Given the description of an element on the screen output the (x, y) to click on. 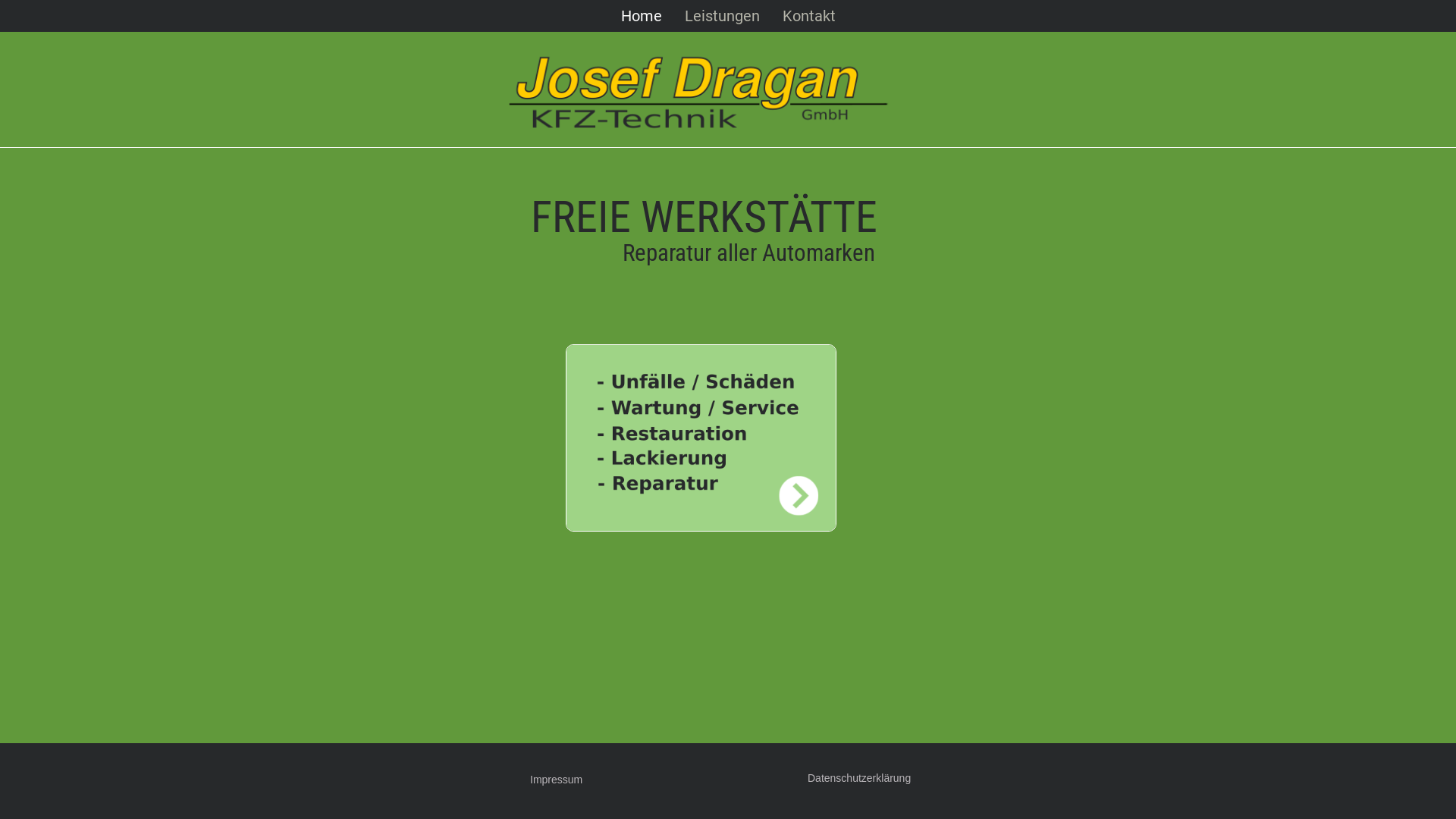
Impressum Element type: text (556, 779)
Josef Dragan GmbH - KFZ-Technik Element type: hover (695, 93)
Kontakt Element type: text (808, 15)
Leistungen Element type: text (722, 15)
Home Element type: text (641, 15)
KZF Reparatur Service Lackierung Karosserie Restauration Element type: hover (700, 437)
